Given the description of an element on the screen output the (x, y) to click on. 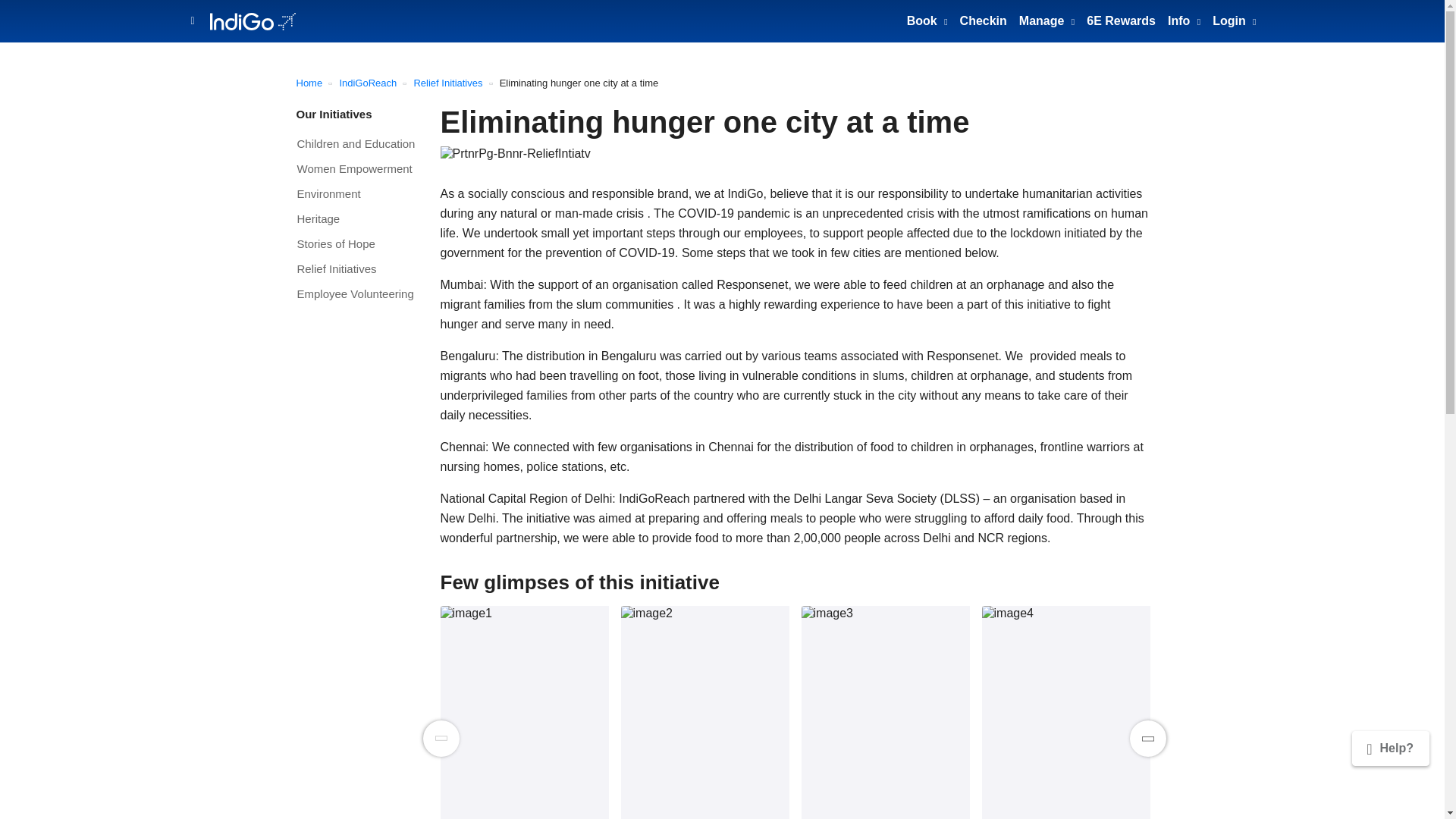
Login (1234, 20)
Info (1184, 20)
Checkin (983, 20)
Manage (1046, 20)
Book (927, 20)
6E Rewards (1120, 20)
